Given the description of an element on the screen output the (x, y) to click on. 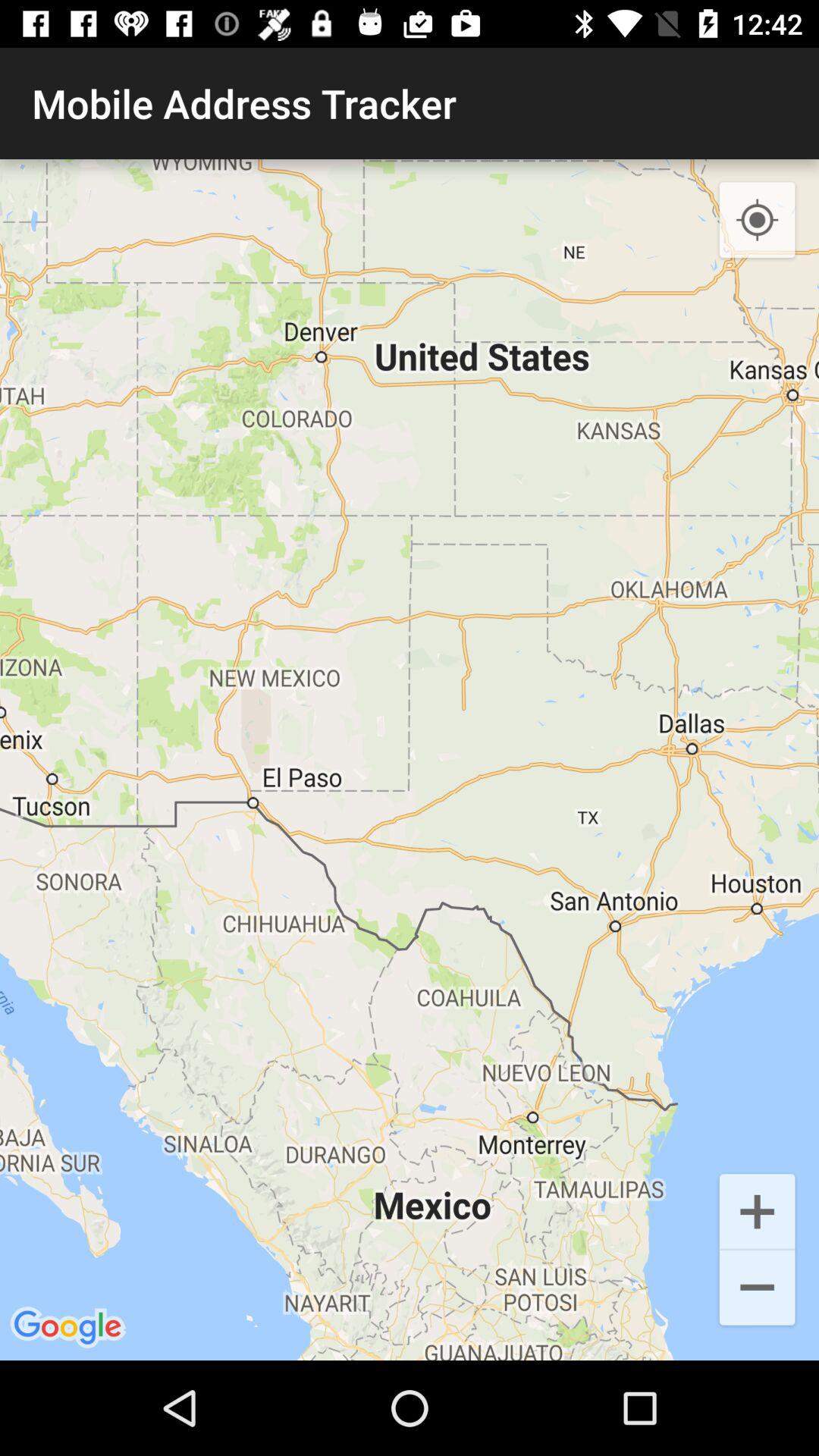
choose item at the top right corner (757, 220)
